Given the description of an element on the screen output the (x, y) to click on. 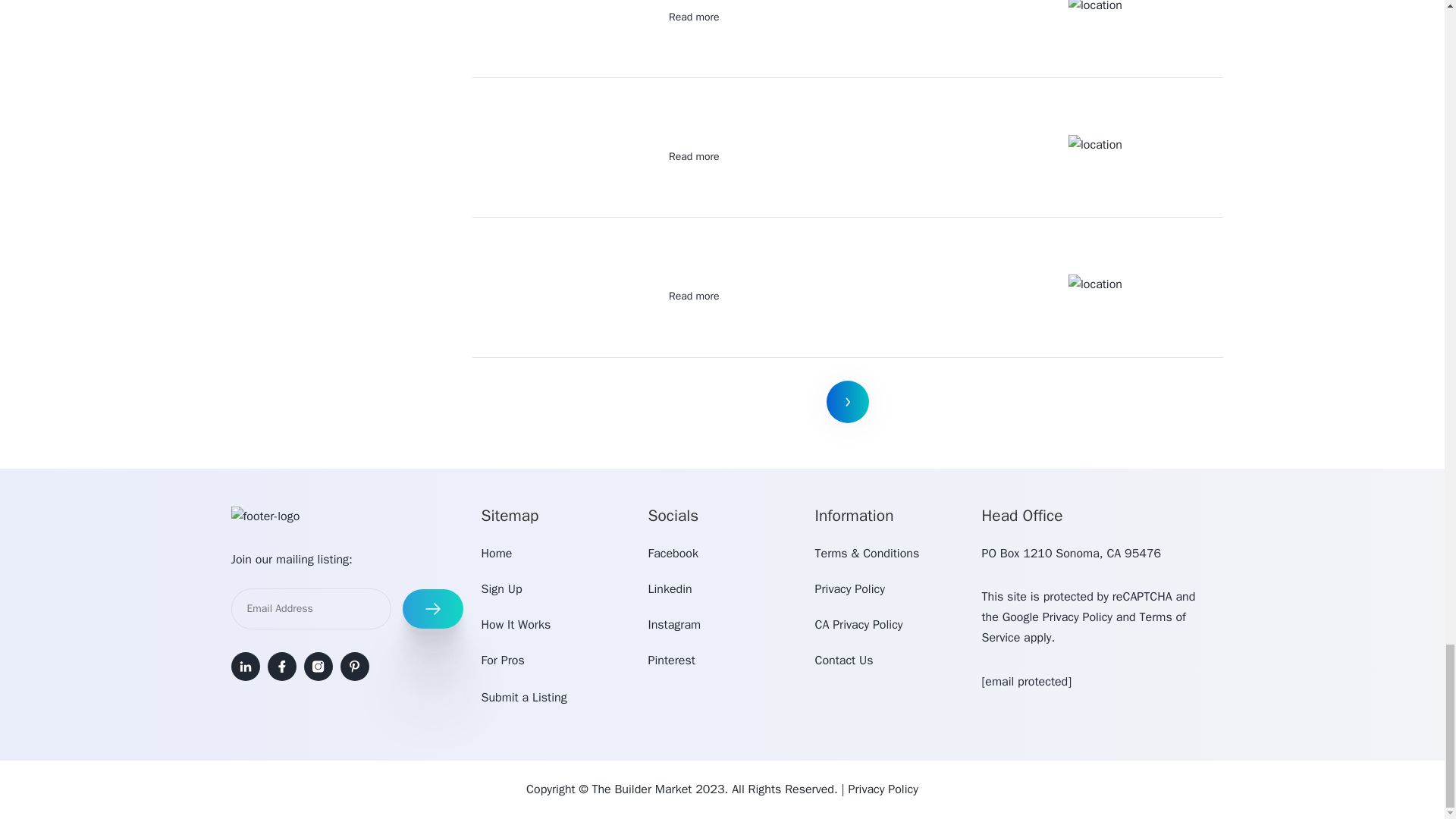
Sign-up to newsletter (432, 608)
External link to The Builder Market Facebook profile (280, 665)
External link to The Builder Market Linkedin profile (669, 589)
External link to The Builder Market Instagram profile (673, 625)
External link to The Builder Market Linkedin profile (244, 665)
Go to next page (848, 401)
External link to The Builder Market Pinterest profile (353, 665)
External link to The Builder Market Instragram profile (316, 665)
External link to The Builder Market Facebook profile (672, 553)
